Given the description of an element on the screen output the (x, y) to click on. 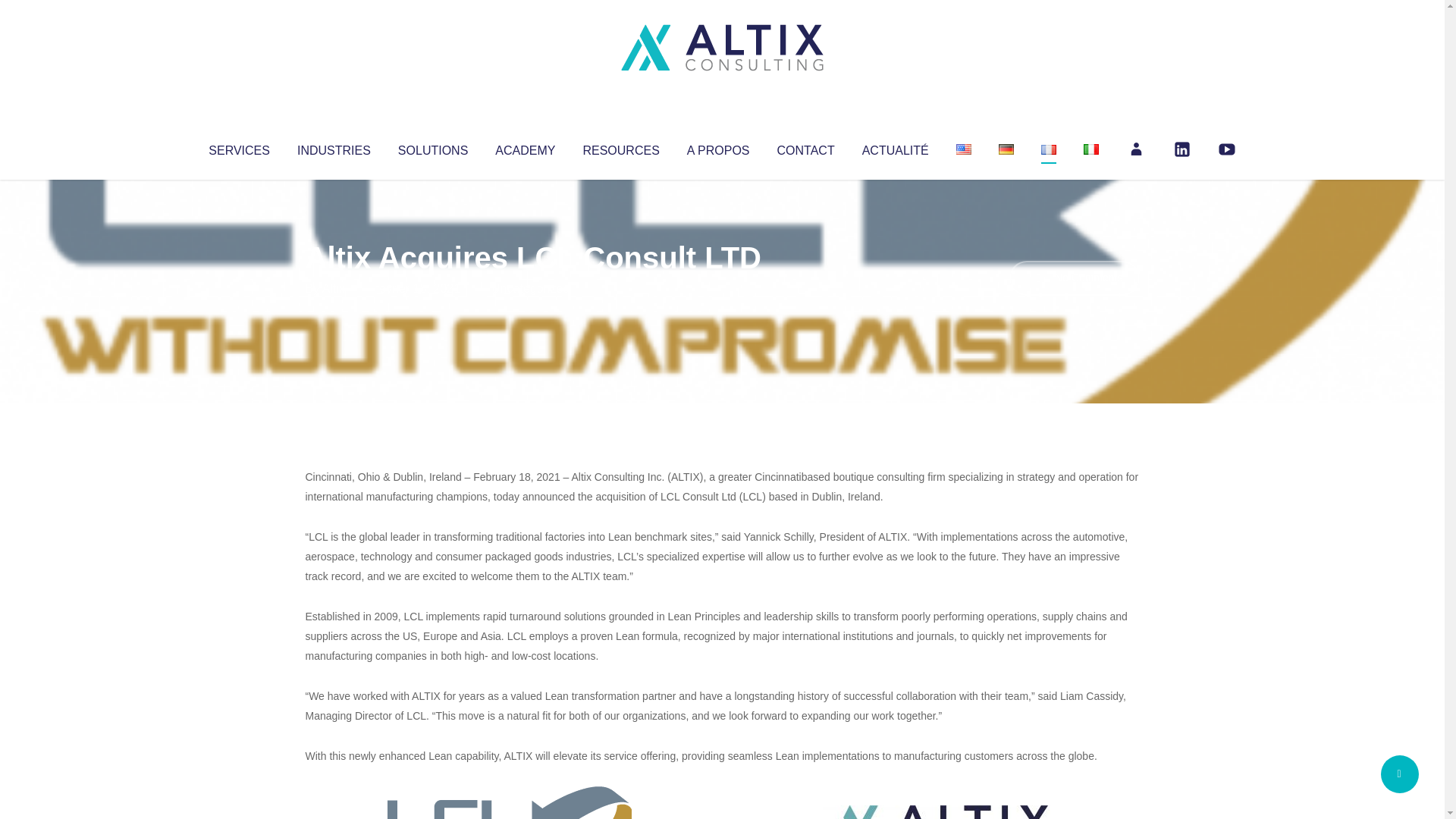
ACADEMY (524, 146)
RESOURCES (620, 146)
Articles par Altix (333, 287)
No Comments (1073, 278)
Uncategorized (530, 287)
A PROPOS (718, 146)
Altix (333, 287)
SOLUTIONS (432, 146)
SERVICES (238, 146)
INDUSTRIES (334, 146)
